Given the description of an element on the screen output the (x, y) to click on. 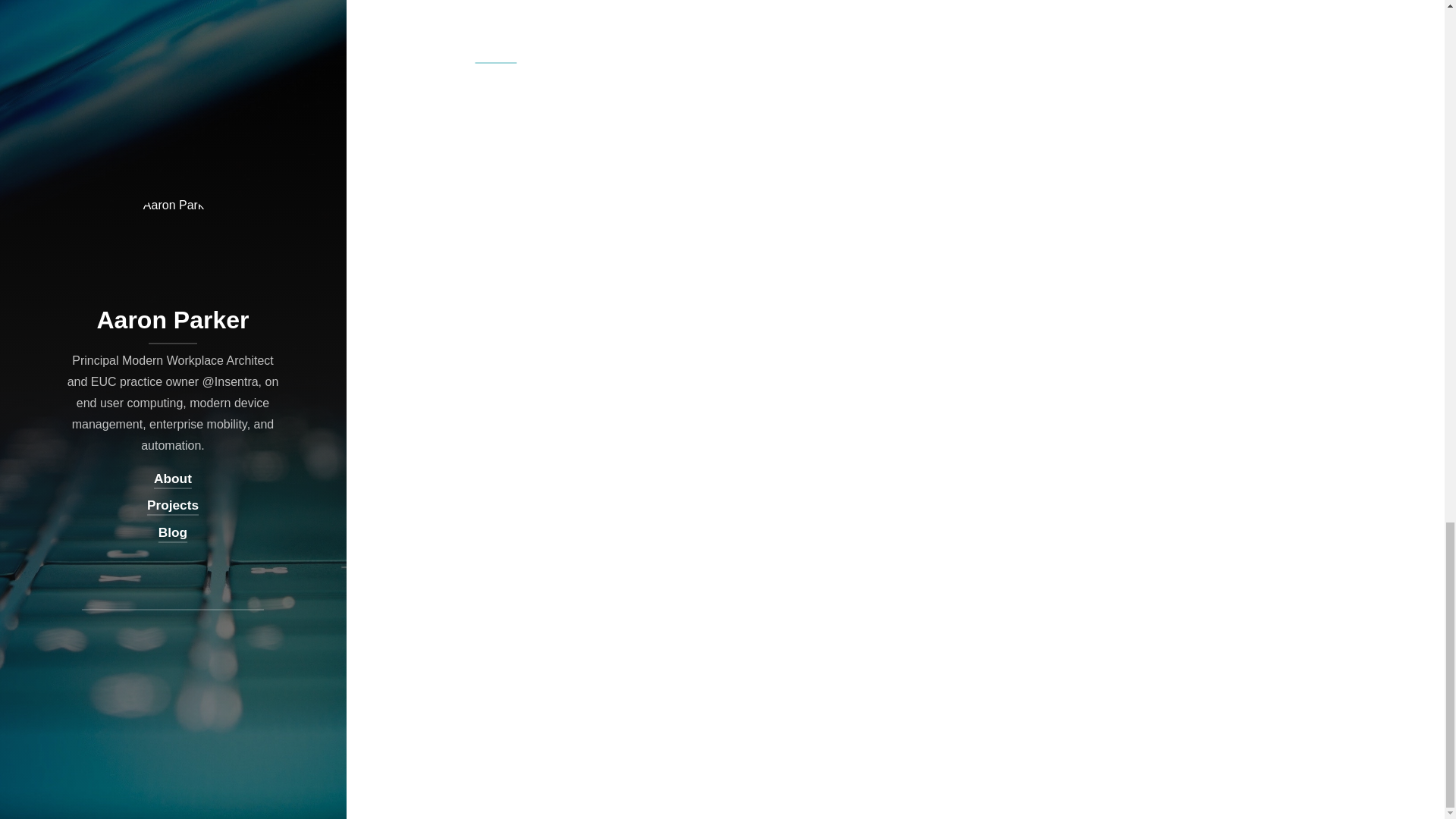
VCREDIST (643, 32)
DISCLAIMER (578, 32)
Hydejack (496, 53)
EVERGREEN (709, 32)
ATTRIBUTION (504, 32)
LICENCE (441, 32)
